Given the description of an element on the screen output the (x, y) to click on. 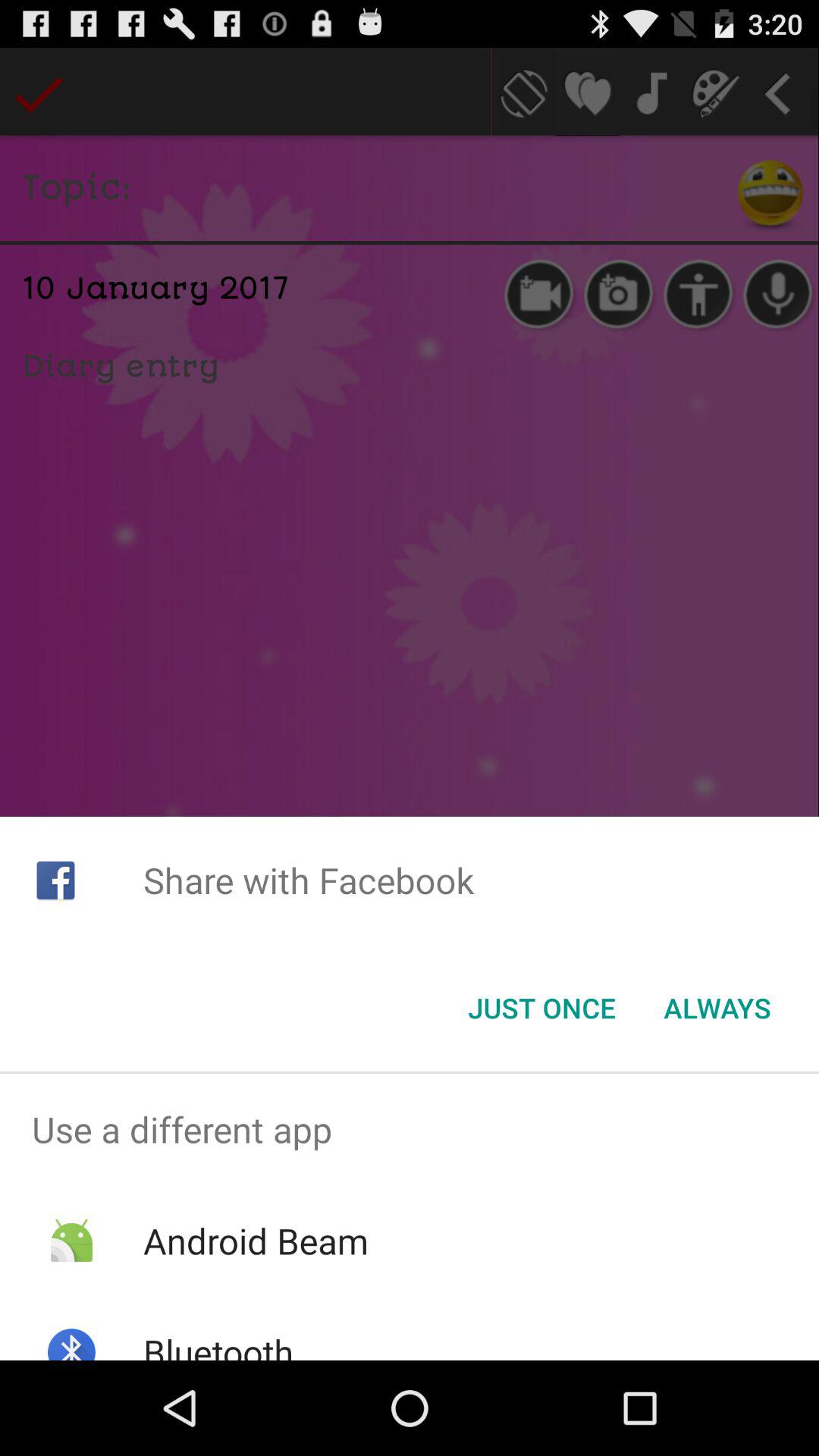
launch the icon above bluetooth (255, 1240)
